Given the description of an element on the screen output the (x, y) to click on. 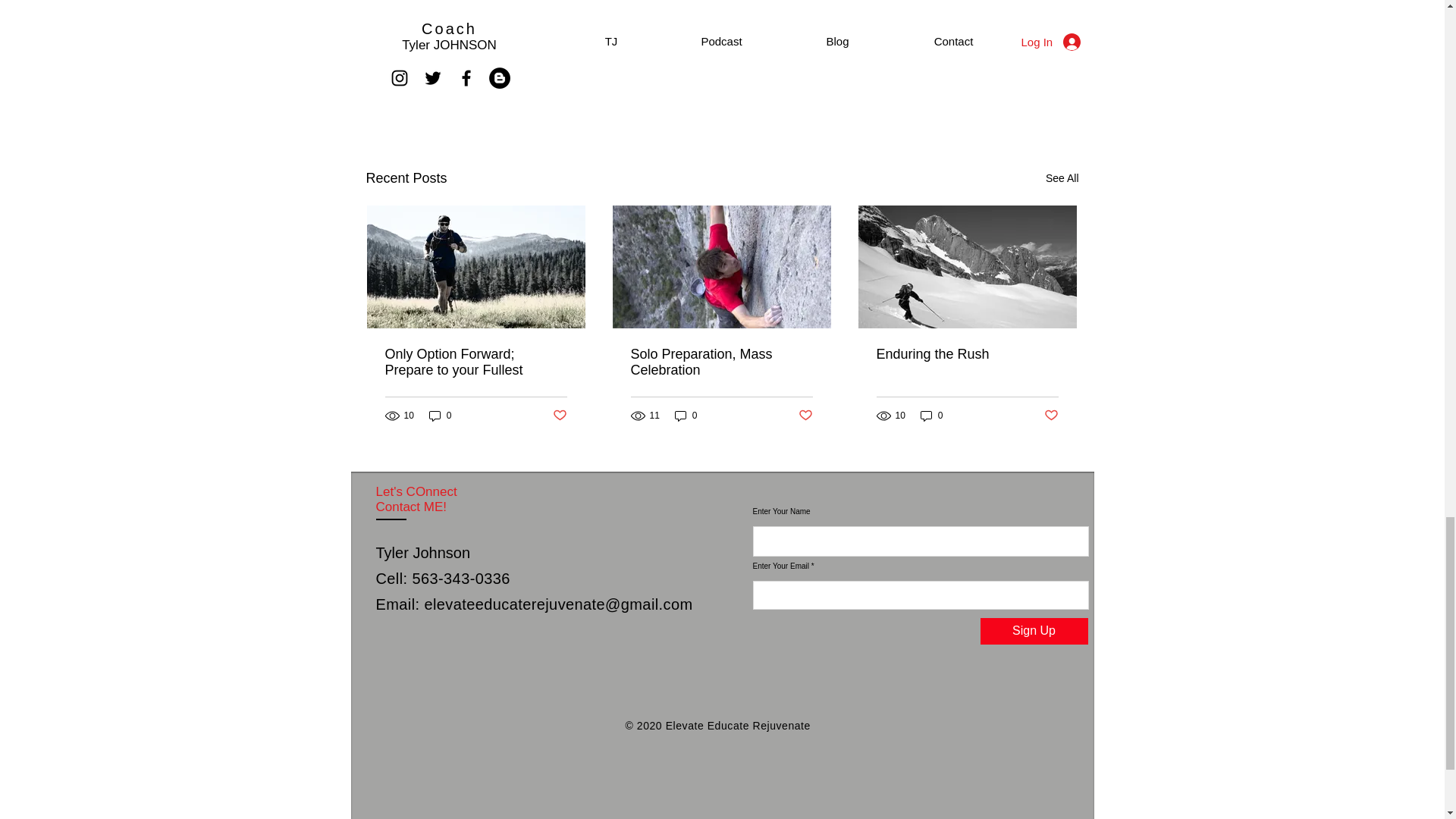
0 (440, 414)
Only Option Forward; Prepare to your Fullest (476, 362)
Post not marked as liked (995, 95)
Post not marked as liked (1050, 415)
See All (1061, 178)
Solo Preparation, Mass Celebration (721, 362)
Post not marked as liked (804, 415)
0 (931, 414)
0 (685, 414)
Enduring the Rush (967, 354)
